Given the description of an element on the screen output the (x, y) to click on. 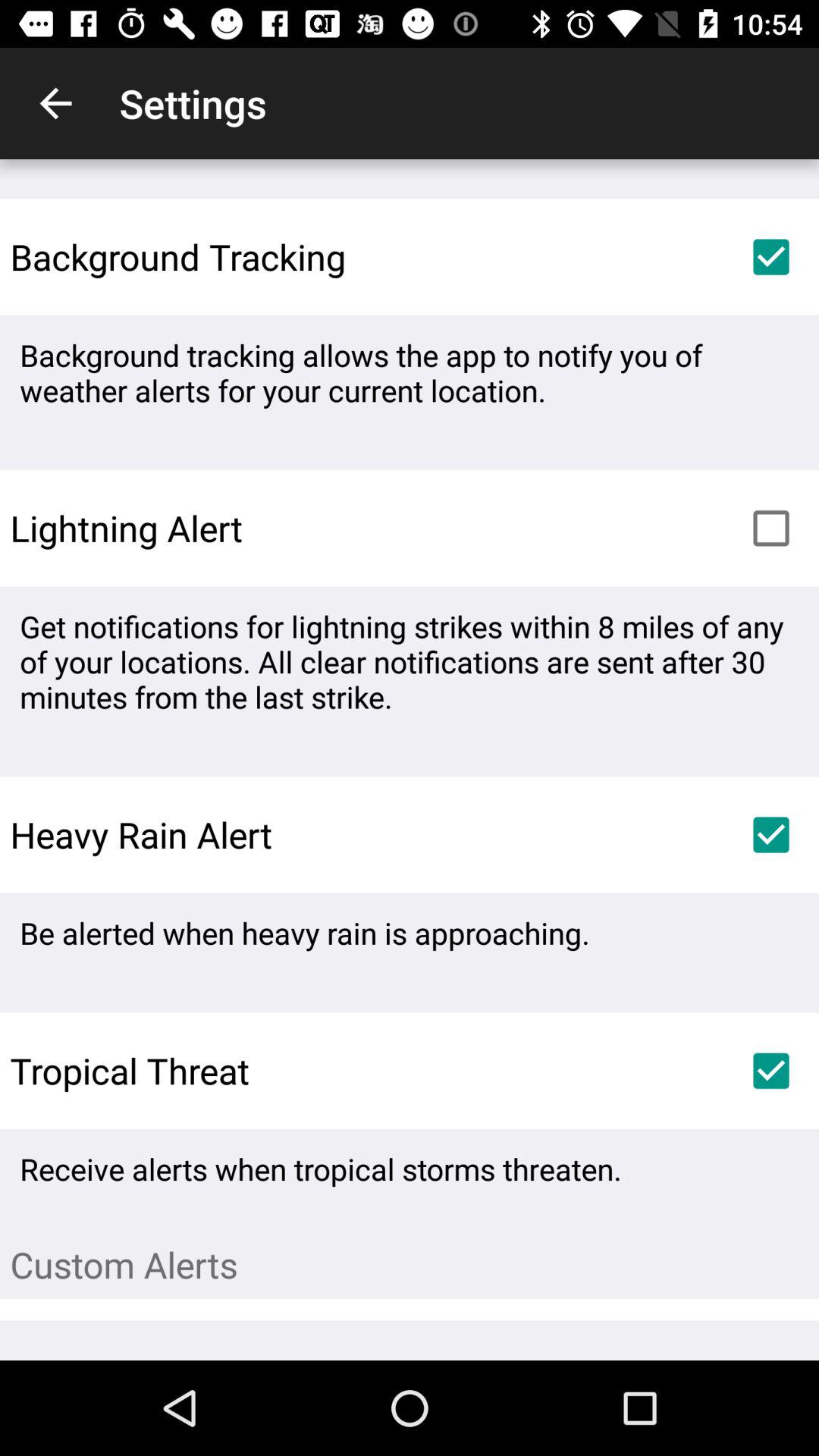
you can check this box to get alerts about tropical storms (771, 1070)
